Given the description of an element on the screen output the (x, y) to click on. 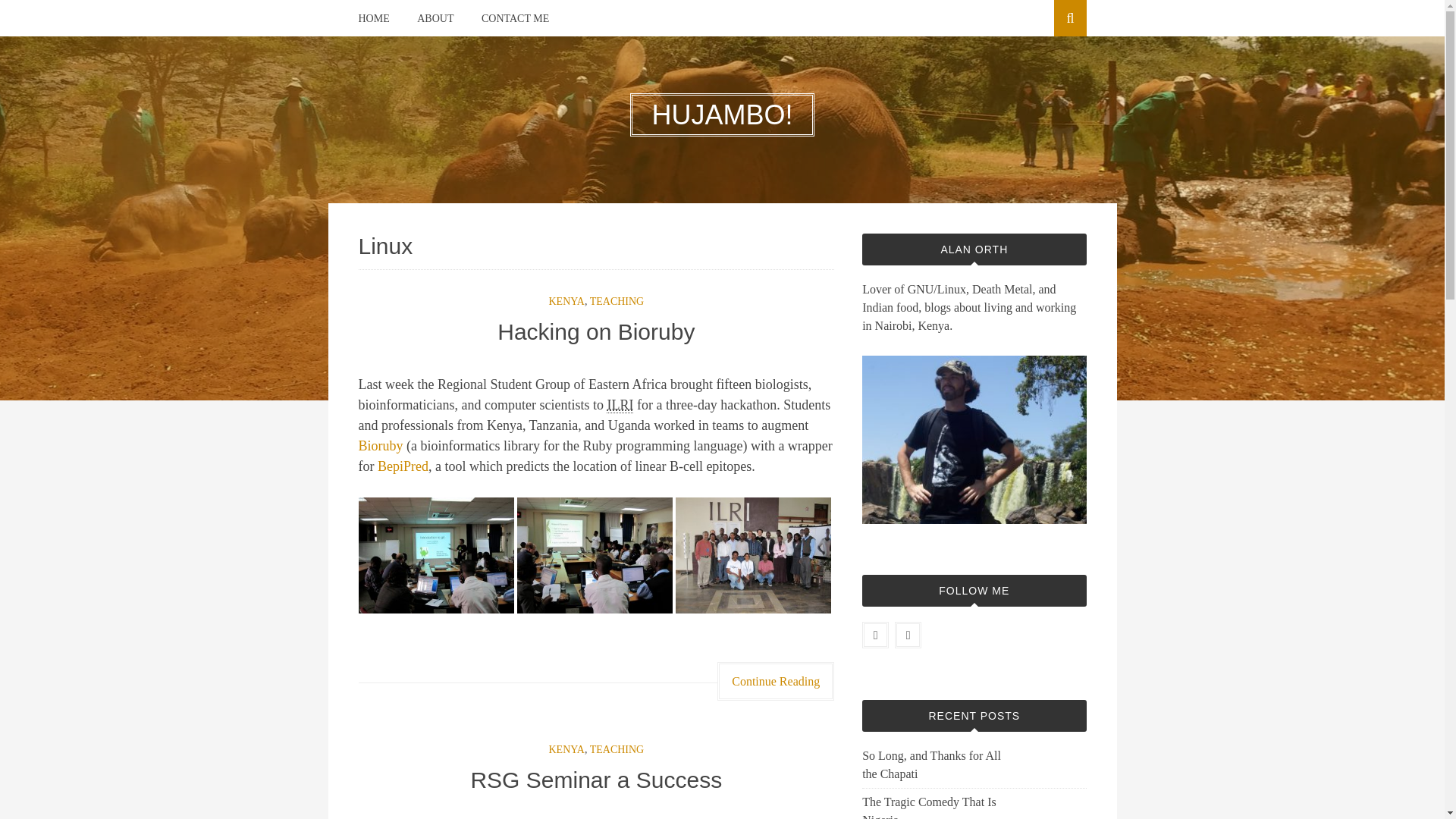
Bioruby (380, 445)
So Long, and Thanks for All the Chapati (934, 764)
The International Livestock Research Institute (620, 405)
KENYA (565, 301)
Hacking on Bioruby (595, 330)
The Tragic Comedy That Is Nigeria (934, 806)
CONTACT ME (514, 18)
TEACHING (617, 301)
HUJAMBO! (721, 113)
Bioruby homepage (380, 445)
RSG Seminar a Success (596, 779)
Continue Reading (775, 681)
TEACHING (617, 749)
HOME (373, 18)
BepiPred (402, 465)
